Given the description of an element on the screen output the (x, y) to click on. 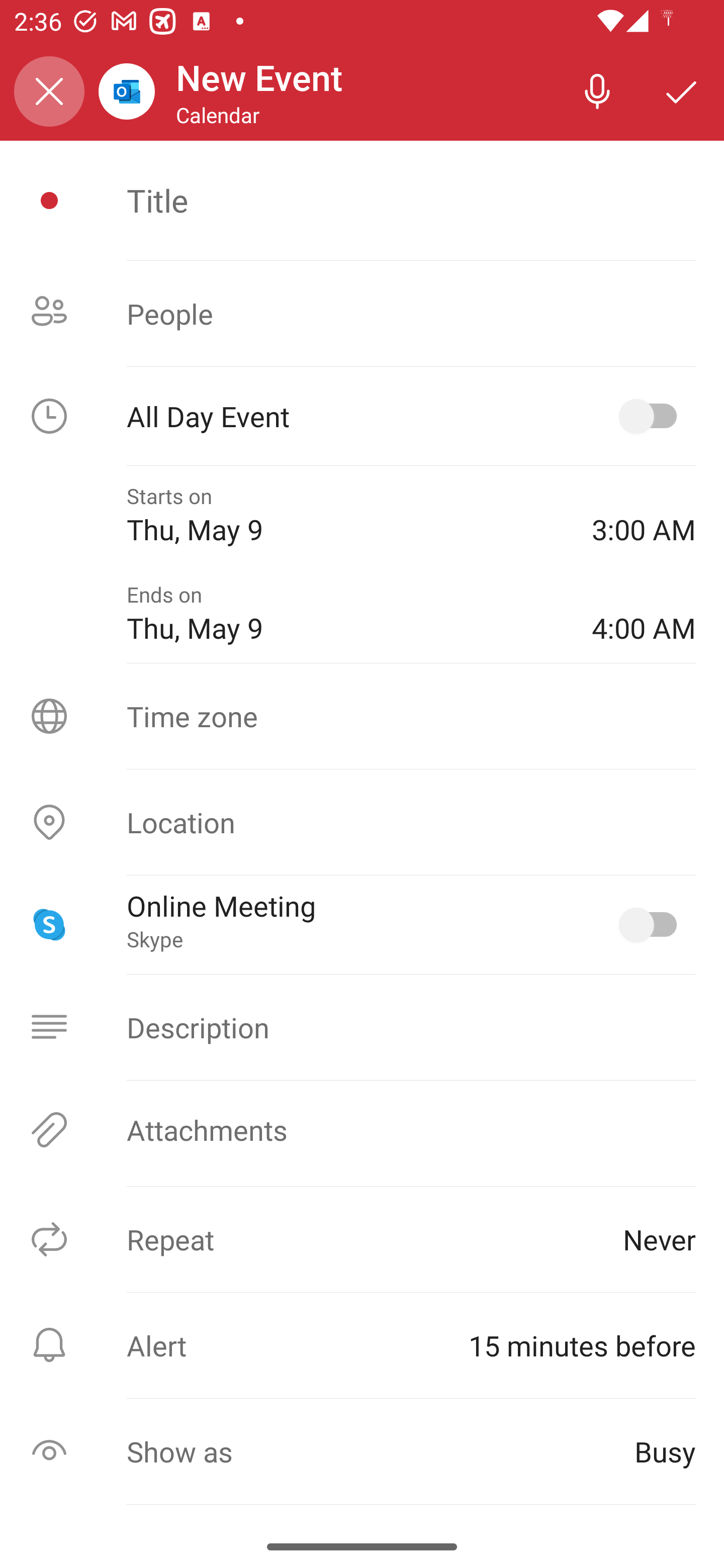
Close (49, 91)
Save (681, 90)
Title (410, 200)
Event icon picker (48, 200)
People (362, 313)
All Day Event (362, 415)
Starts on Thu, May 9 (344, 514)
3:00 AM (643, 514)
Ends on Thu, May 9 (344, 613)
4:00 AM (643, 613)
Time zone (362, 715)
Location (362, 821)
Online Meeting, Skype selected (651, 923)
Description (362, 1026)
Attachments (362, 1129)
Repeat Never (362, 1239)
Alert ⁨15 minutes before (362, 1345)
Show as Busy (362, 1450)
